Given the description of an element on the screen output the (x, y) to click on. 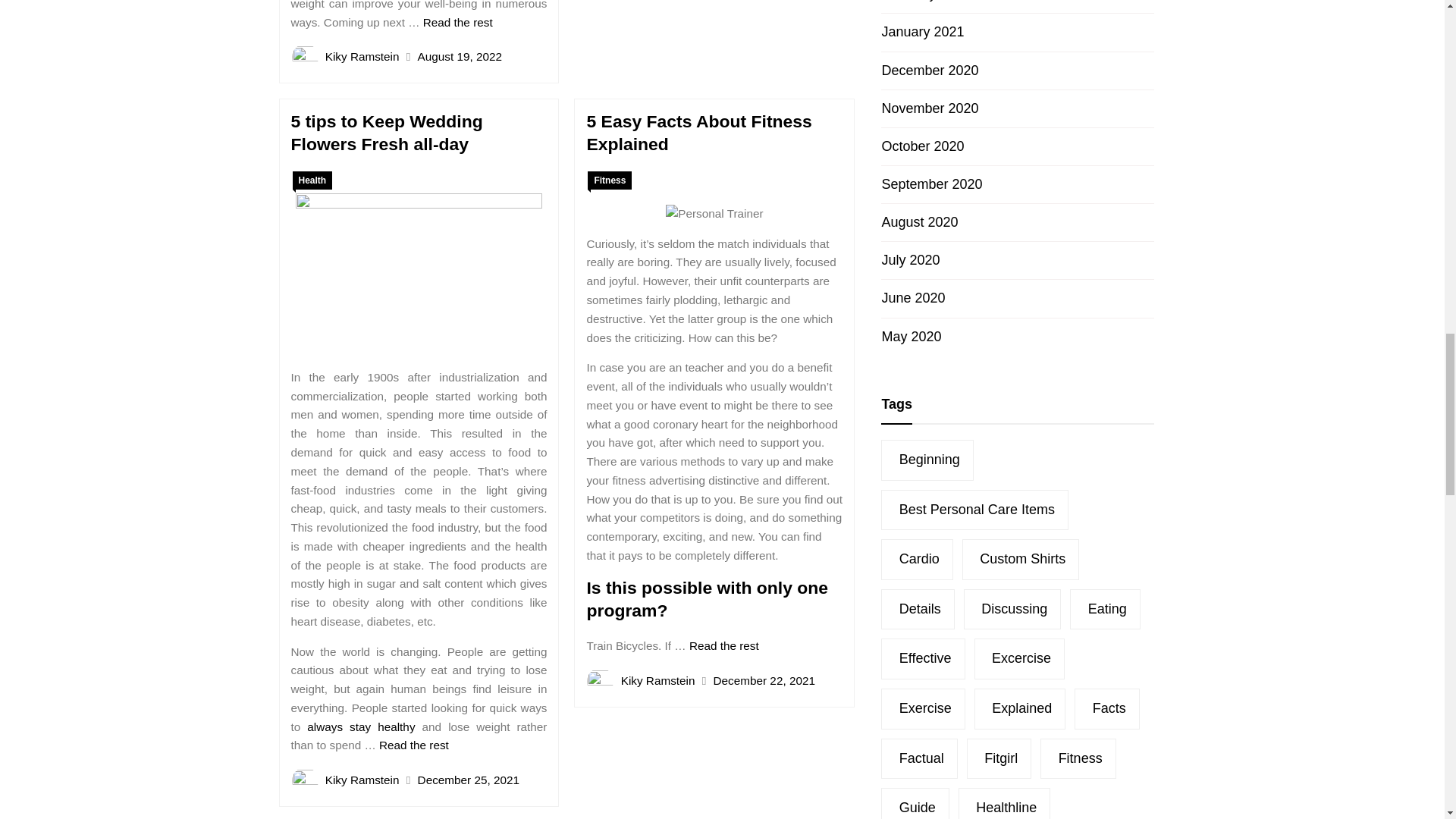
Read the rest (458, 21)
Kiky Ramstein (361, 779)
Read the rest (413, 744)
August 19, 2022 (459, 56)
December 25, 2021 (468, 779)
Health (312, 180)
Kiky Ramstein (361, 56)
5 tips to Keep Wedding Flowers Fresh all-day (387, 132)
always stay healthy (360, 726)
